Given the description of an element on the screen output the (x, y) to click on. 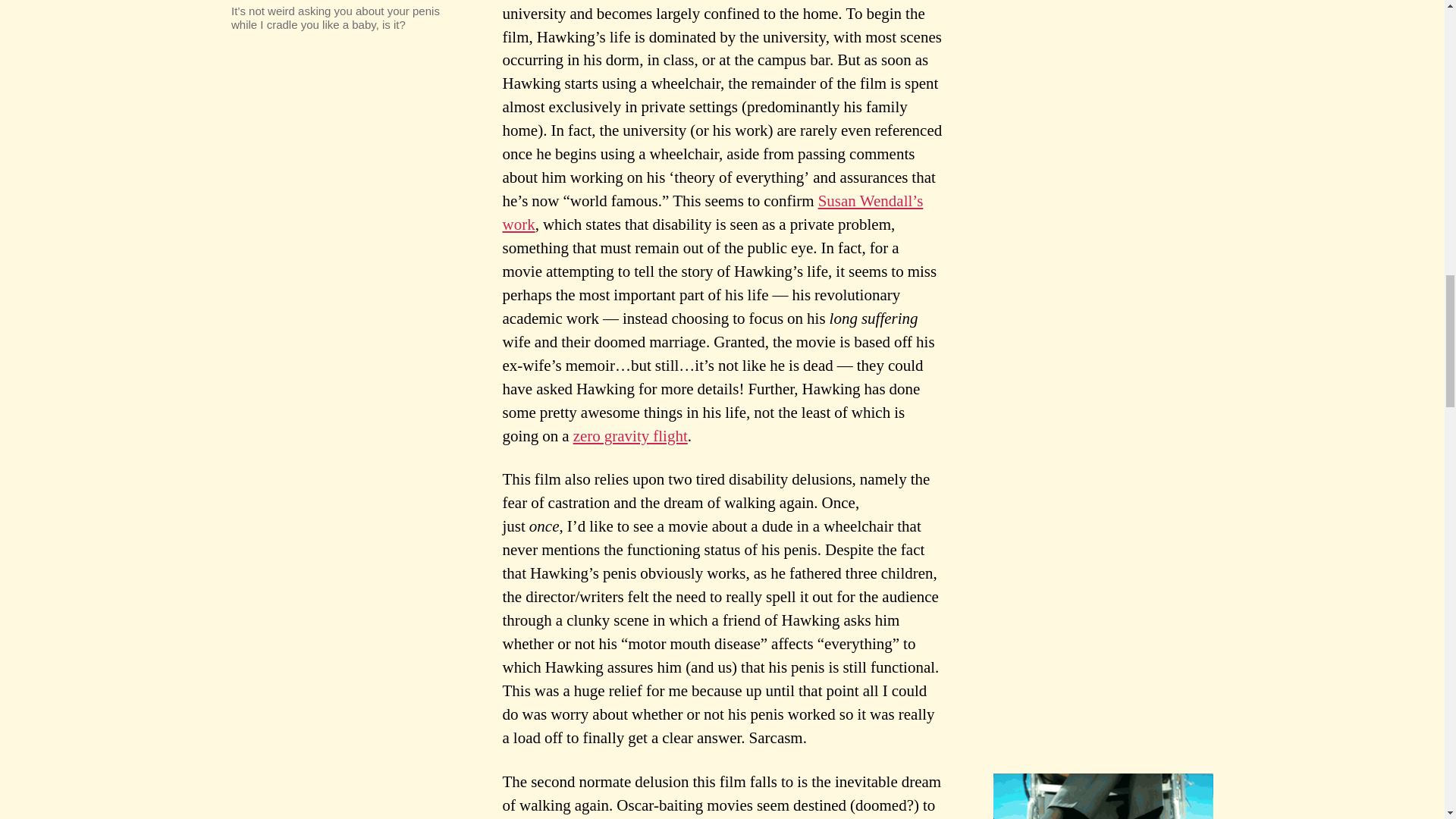
BBC: Hawking takes zero-gravity flight (630, 435)
zero gravity flight (630, 435)
Susan Wendall - The Rejected Body (712, 212)
